Given the description of an element on the screen output the (x, y) to click on. 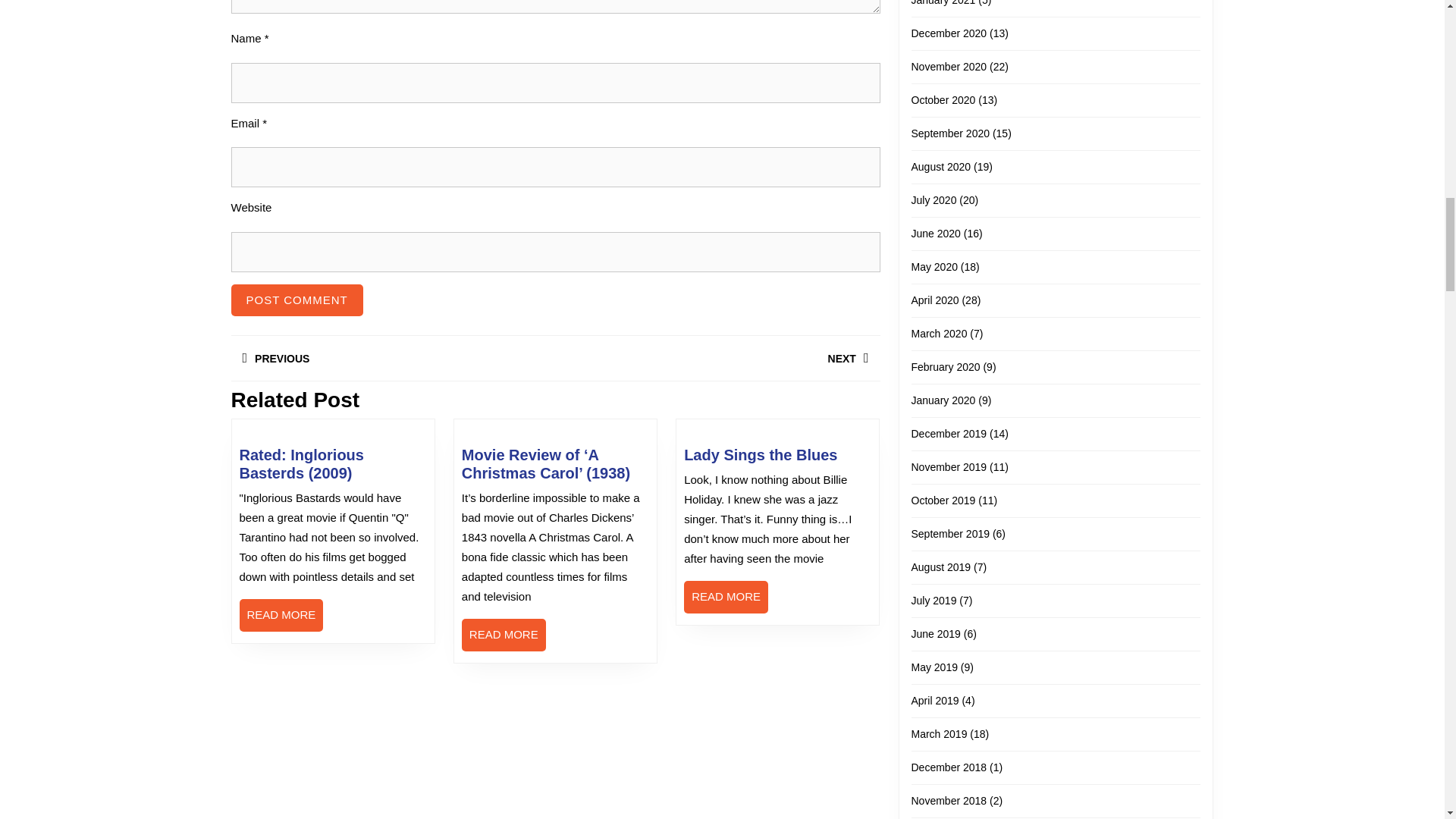
Post Comment (296, 300)
Post Comment (392, 357)
